Given the description of an element on the screen output the (x, y) to click on. 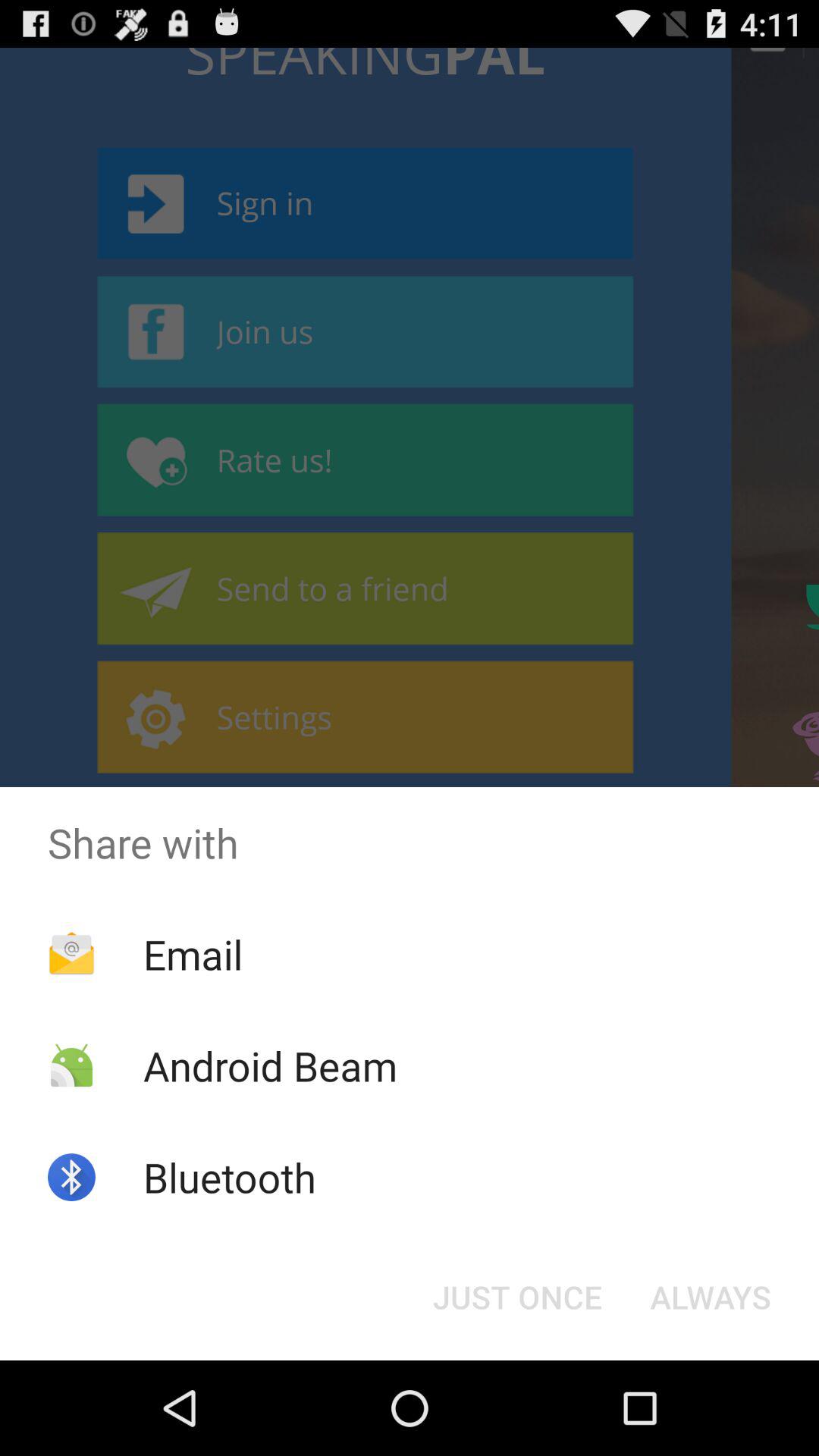
open app below android beam (229, 1176)
